Given the description of an element on the screen output the (x, y) to click on. 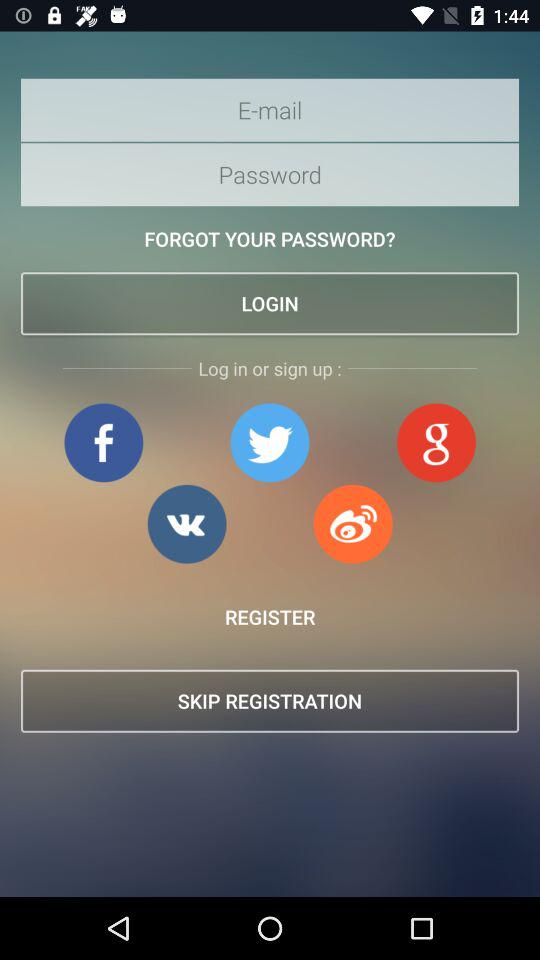
open icon below register icon (270, 700)
